Given the description of an element on the screen output the (x, y) to click on. 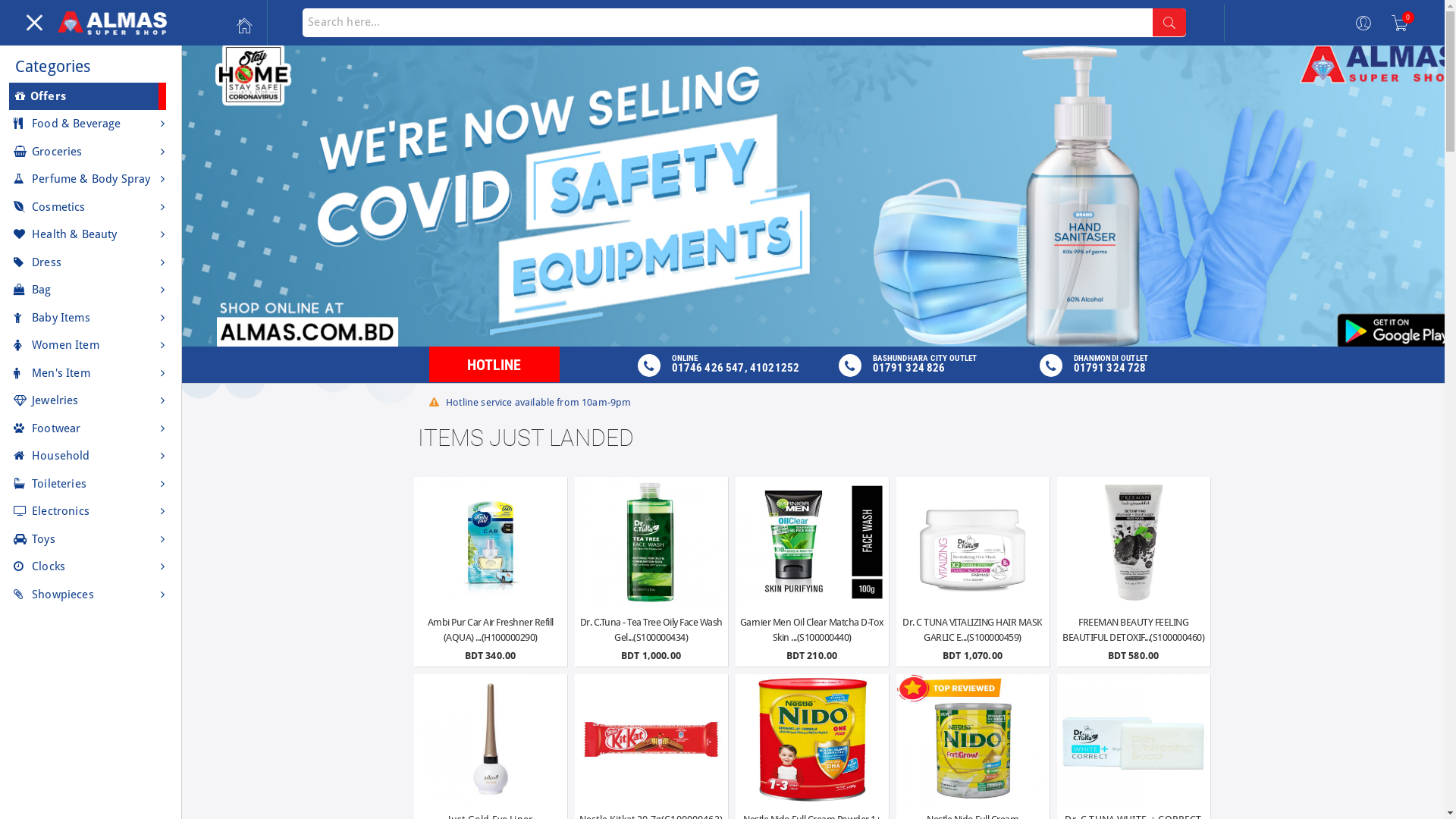
Men's Item Element type: text (90, 373)
Dress Element type: text (90, 262)
Bag Element type: text (90, 290)
Health & Beauty Element type: text (90, 234)
Showpieces Element type: text (90, 594)
Garnier Men Oil Clear Matcha D-Tox Skin ...(S100000440) Element type: text (811, 629)
Food & Beverage Element type: text (90, 123)
0 Element type: text (1399, 22)
Dr. C TUNA VITALIZING HAIR MASK GARLIC E...(S100000459) Element type: text (972, 629)
Dr. C.Tuna - Tea Tree Oily Face Wash Gel...(S100000434) Element type: text (651, 629)
Perfume & Body Spray Element type: text (90, 179)
Baby Items Element type: text (90, 317)
Cosmetics Element type: text (90, 206)
Footwear Element type: text (90, 428)
Household Element type: text (90, 456)
Clocks Element type: text (90, 566)
Groceries Element type: text (90, 152)
Offers Element type: text (87, 95)
Women Item Element type: text (90, 345)
Toileteries Element type: text (90, 484)
Jewelries Element type: text (90, 400)
Ambi Pur Car Air Freshner Refill (AQUA) ...(H100000290) Element type: text (490, 629)
Toys Element type: text (90, 538)
FREEMAN BEAUTY FEELING BEAUTIFUL DETOXIF...(S100000460) Element type: text (1133, 629)
Electronics Element type: text (90, 511)
